Given the description of an element on the screen output the (x, y) to click on. 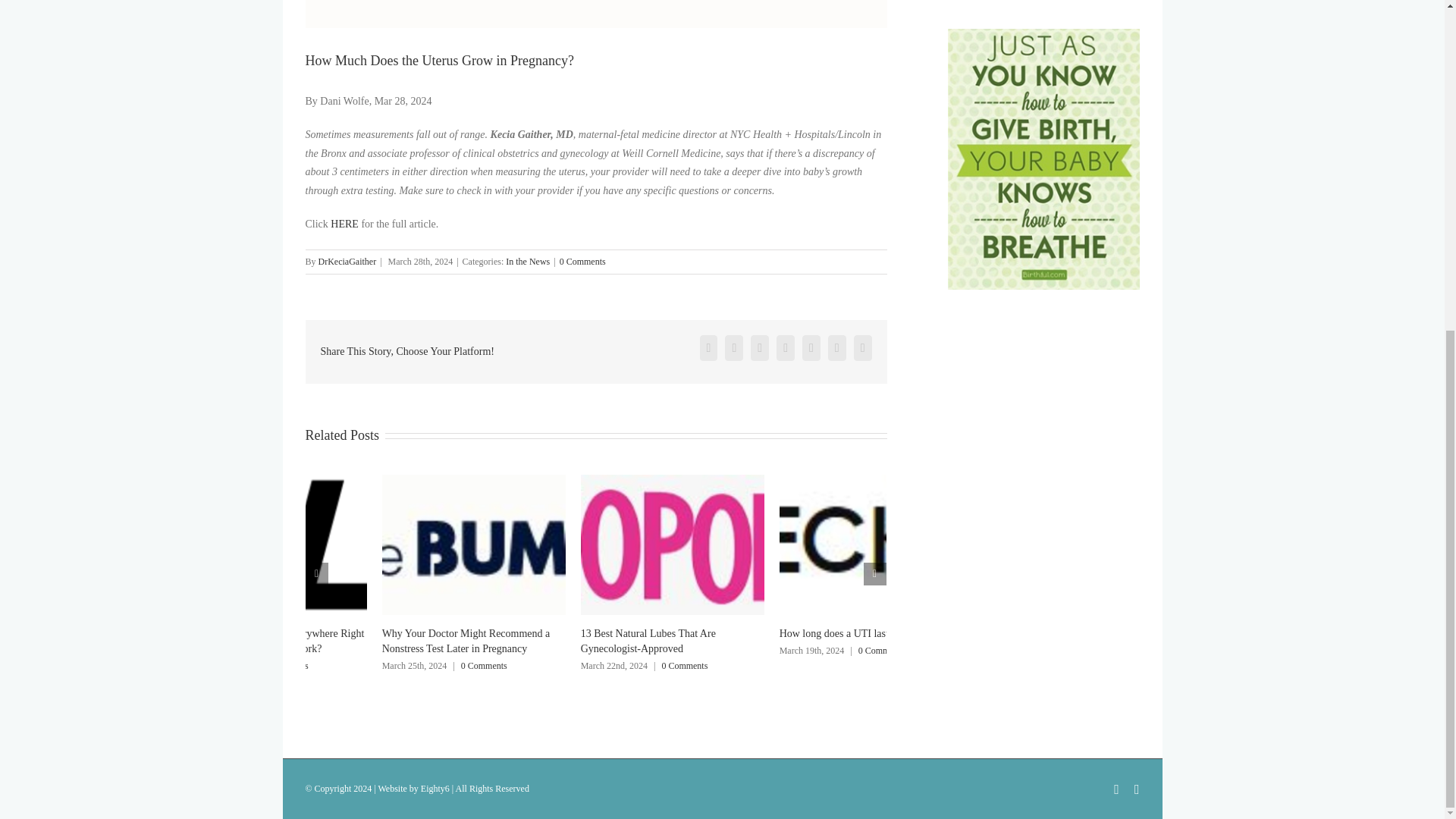
0 Comments (582, 261)
HERE (344, 224)
0 Comments (285, 665)
DrKeciaGaither (347, 261)
View Larger Image (595, 13)
Posts by DrKeciaGaither (347, 261)
In the News (527, 261)
